Given the description of an element on the screen output the (x, y) to click on. 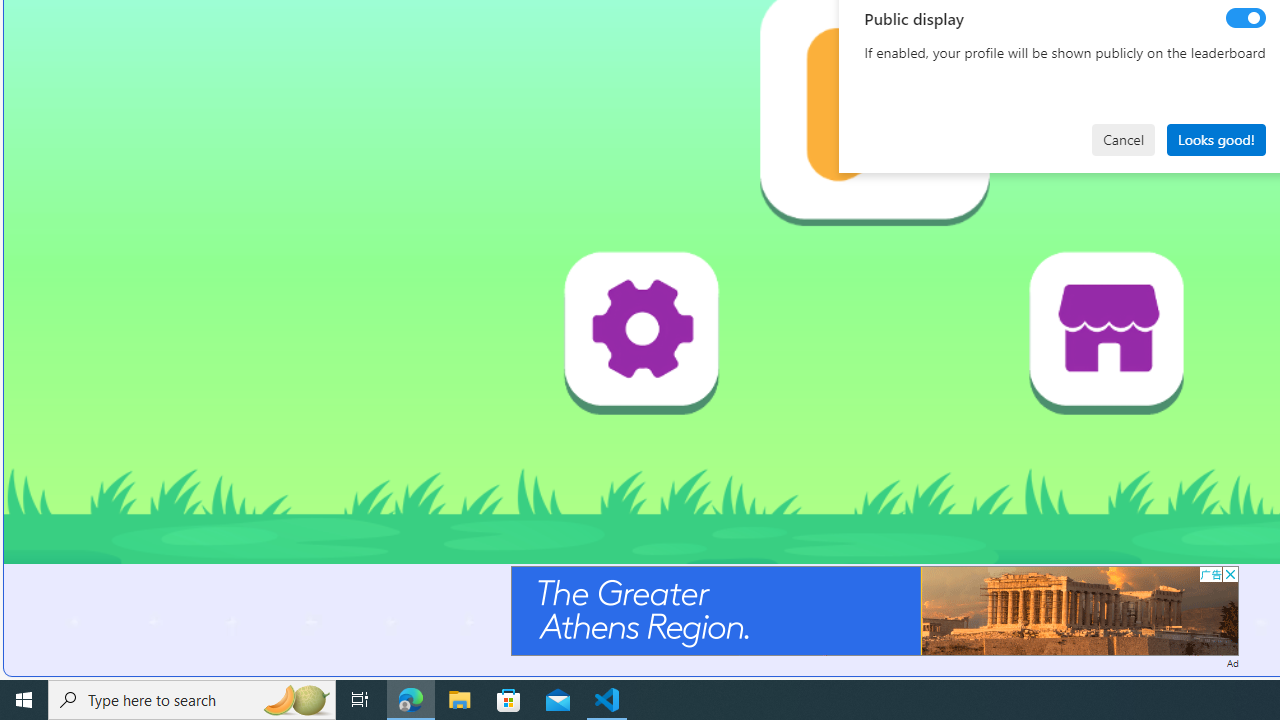
Cancel (1123, 139)
Advertisement (874, 610)
AutomationID: cbb (1229, 574)
Looks good! (1216, 139)
Advertisement (874, 610)
